Given the description of an element on the screen output the (x, y) to click on. 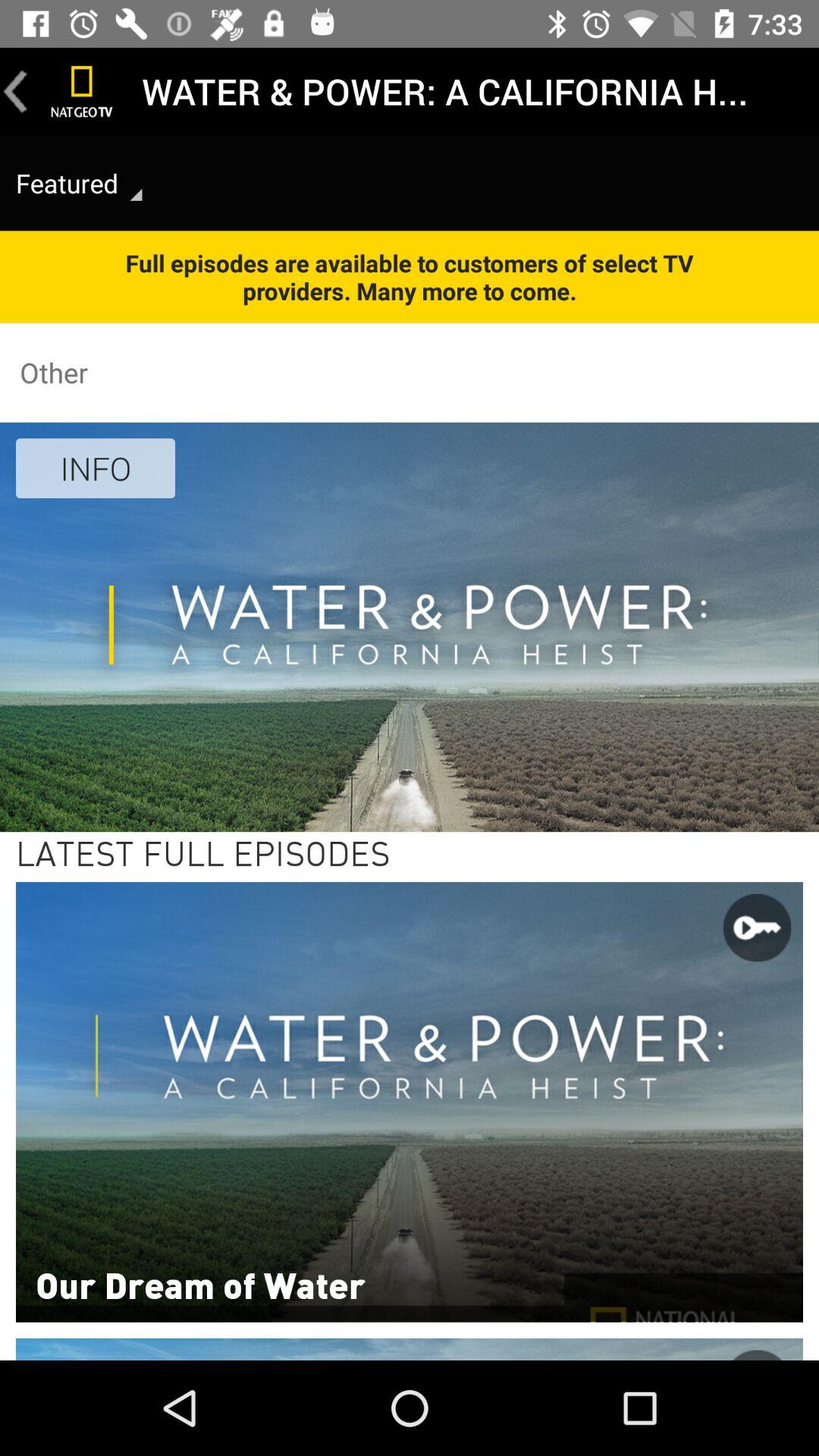
select the icon which is beside featured (136, 194)
